Given the description of an element on the screen output the (x, y) to click on. 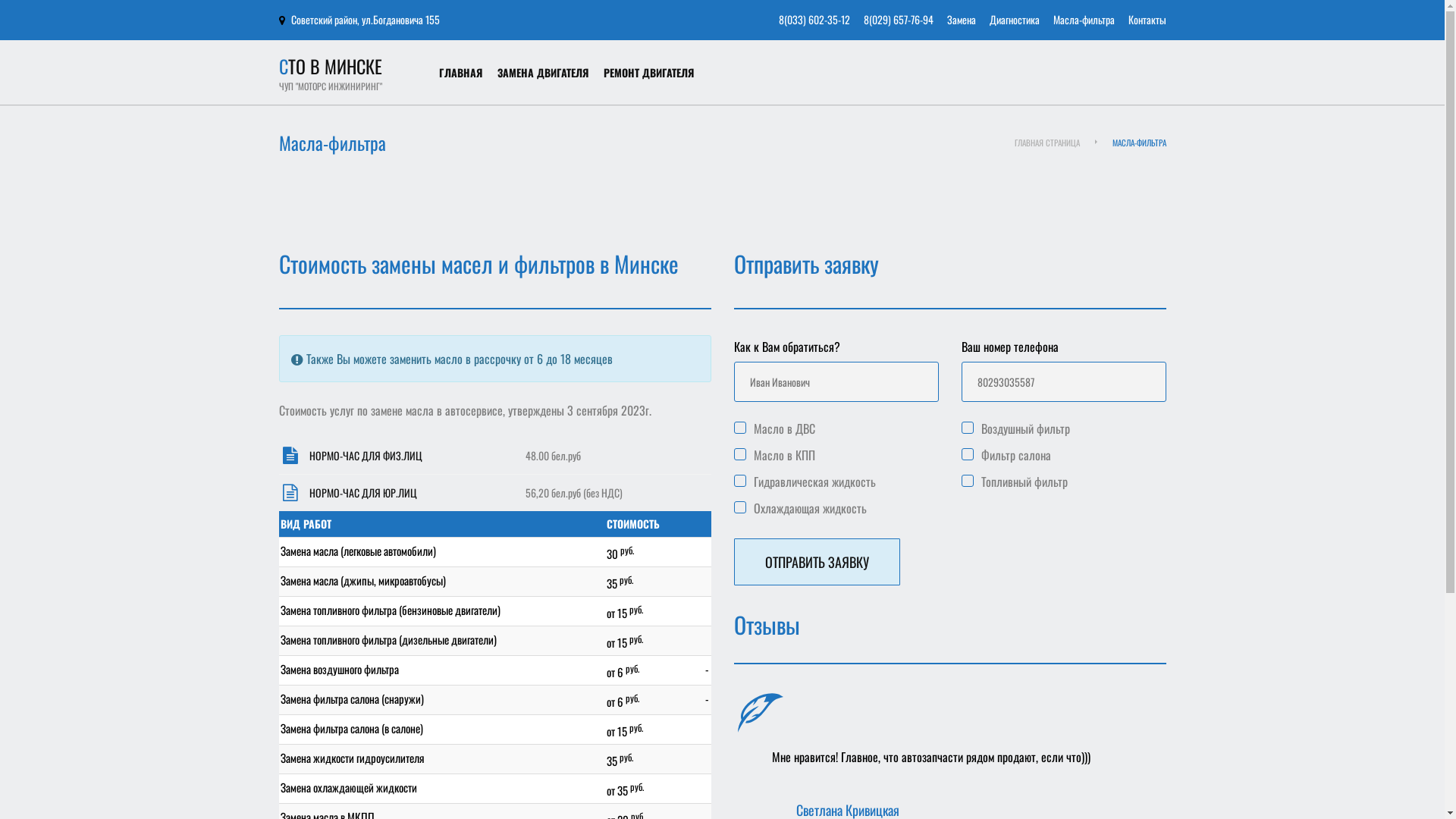
8(033) 602-35-12 Element type: text (813, 19)
8(029) 657-76-94 Element type: text (897, 19)
